Given the description of an element on the screen output the (x, y) to click on. 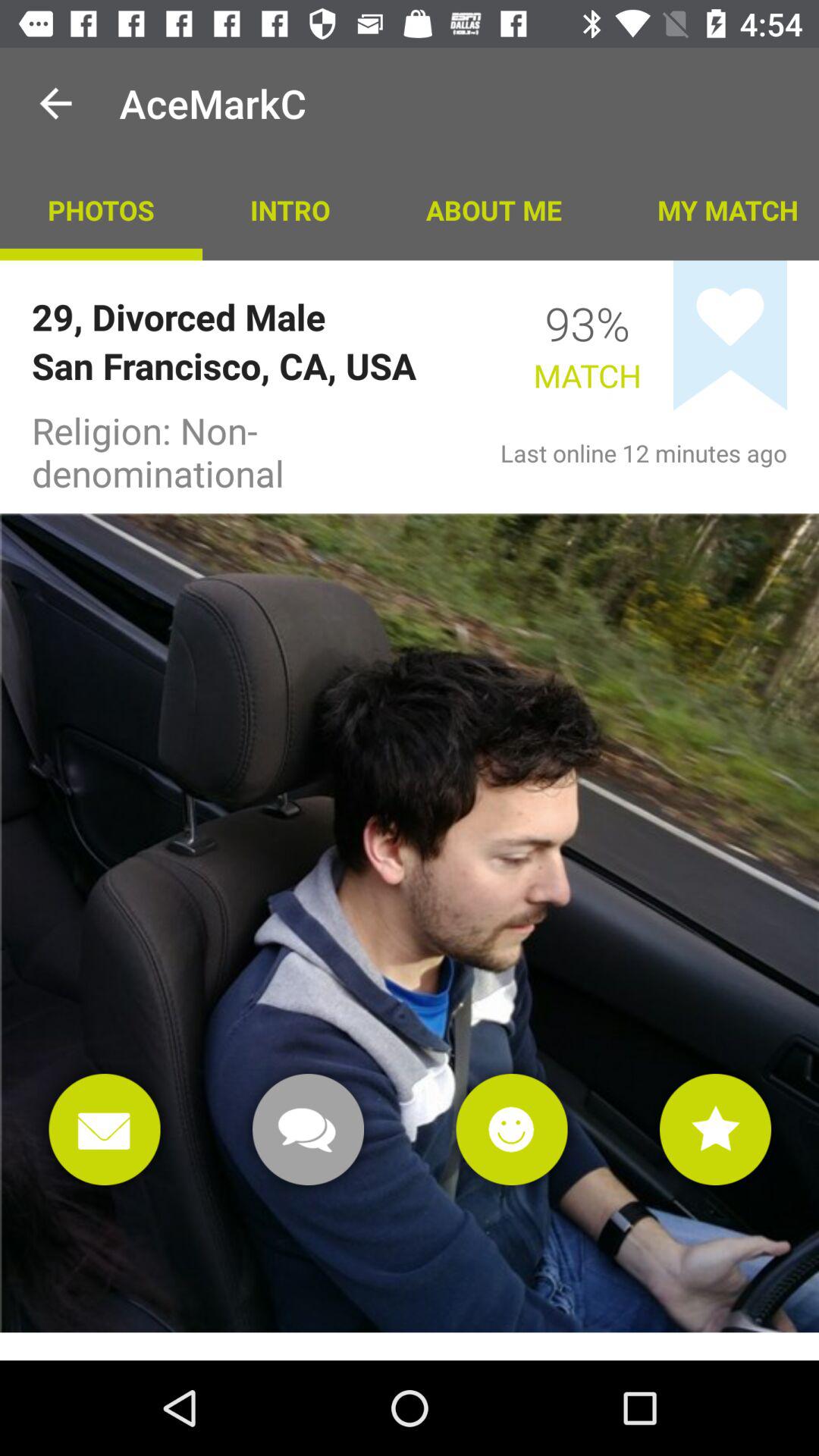
save individual as favourite (715, 1129)
